Given the description of an element on the screen output the (x, y) to click on. 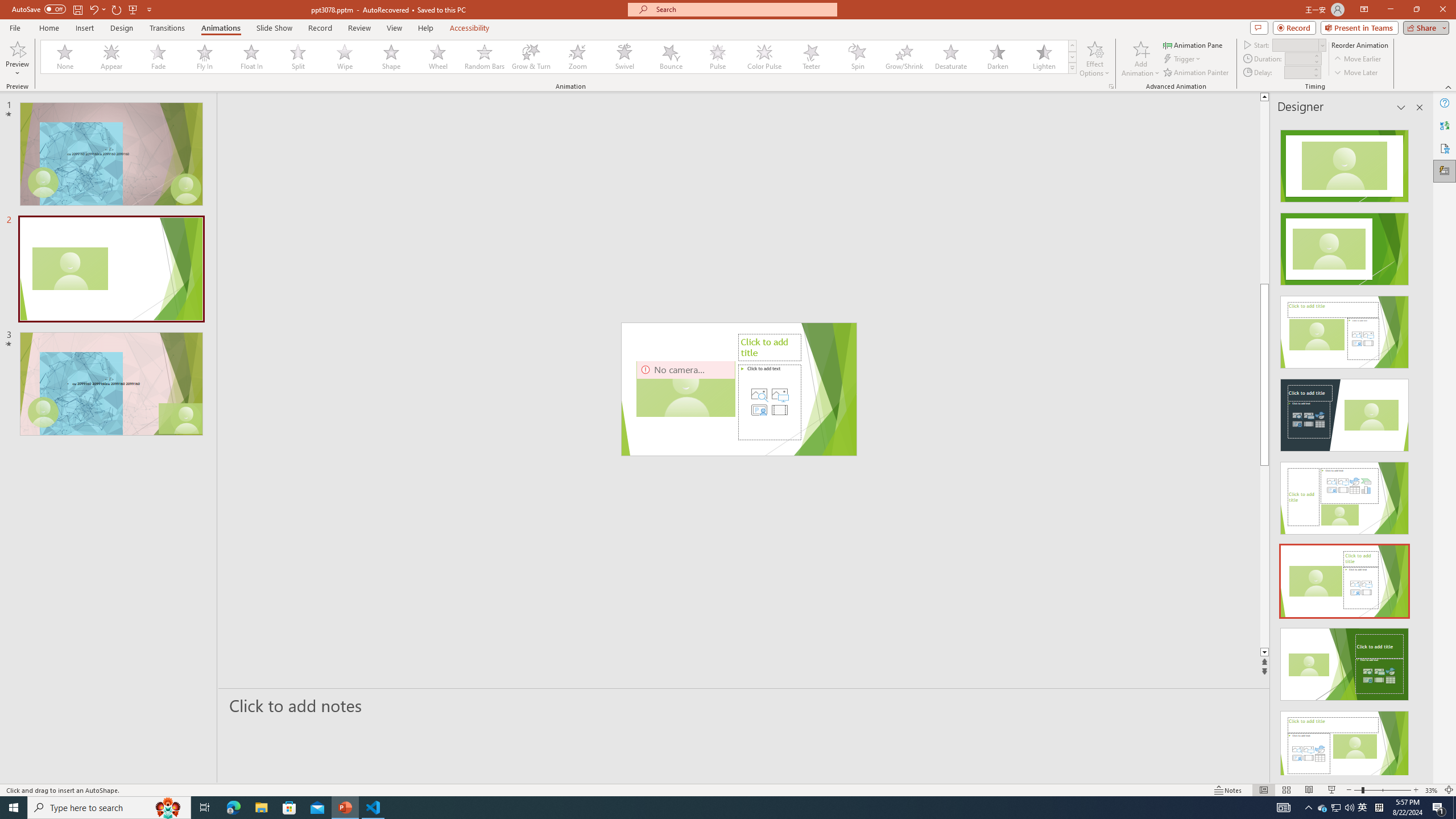
Fly In (205, 56)
Animation Delay (1297, 72)
